Given the description of an element on the screen output the (x, y) to click on. 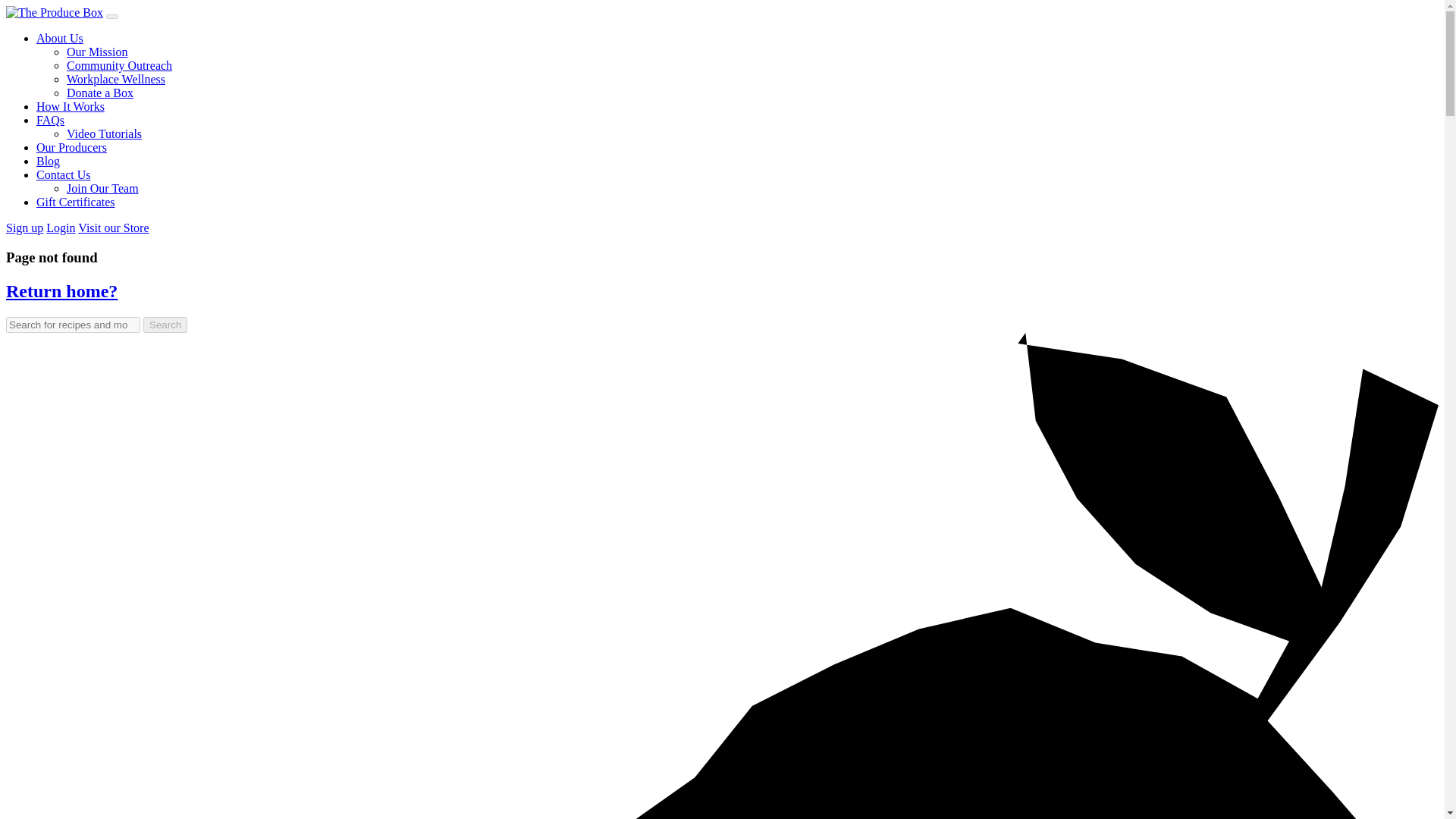
Video Tutorials (103, 133)
Community Outreach (118, 65)
Our Producers (71, 146)
Return home? (61, 291)
Search (164, 324)
Donate a Box (99, 92)
Login (60, 227)
Join Our Team (102, 187)
Workplace Wellness (115, 78)
How It Works (70, 106)
Our Mission (97, 51)
Blog (47, 160)
Sign up (24, 227)
Visit our Store (113, 227)
FAQs (50, 119)
